Given the description of an element on the screen output the (x, y) to click on. 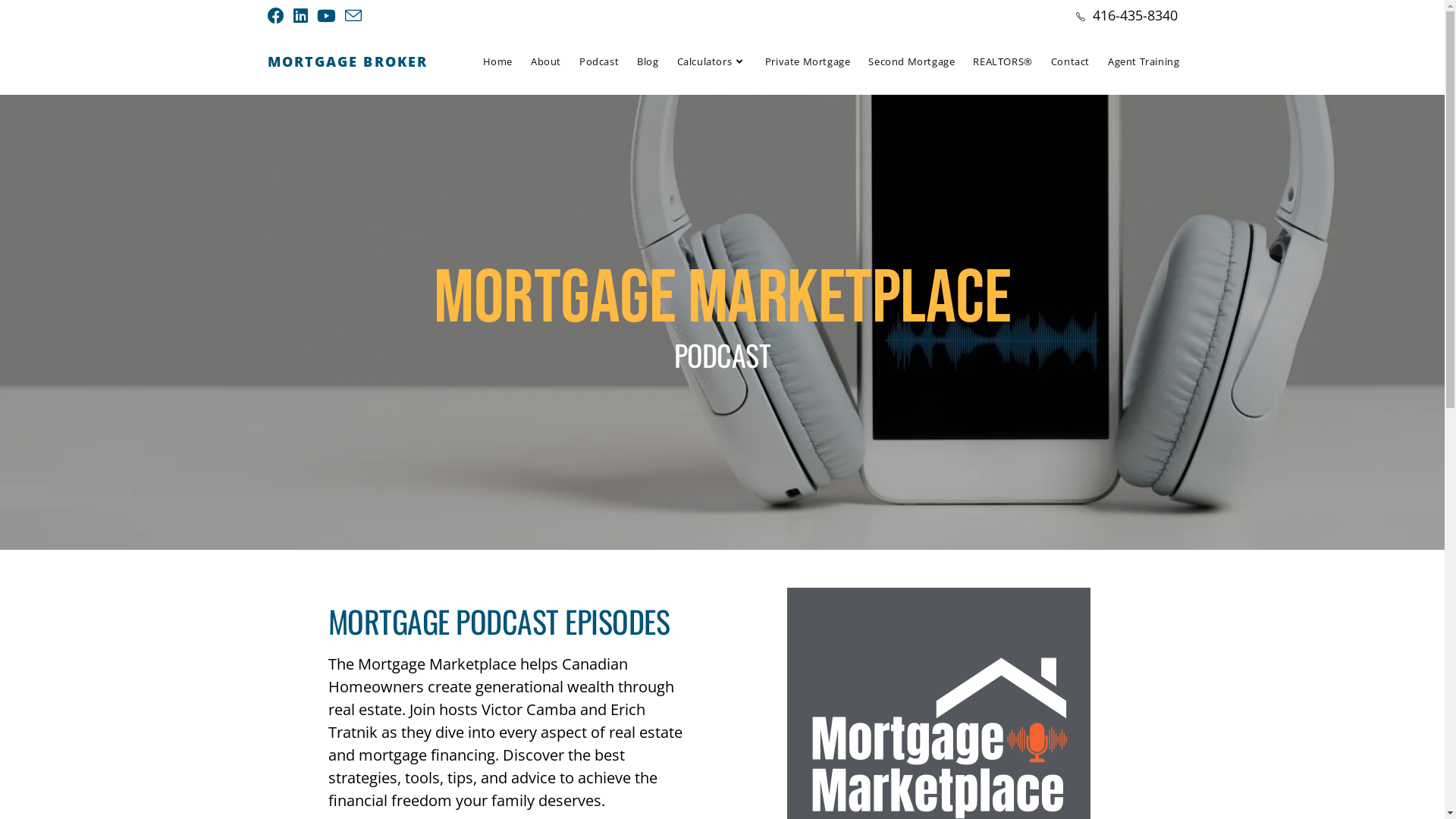
416-435-8340 Element type: text (1134, 15)
MORTGAGE BROKER Element type: text (346, 61)
Blog Element type: text (647, 61)
Agent Training Element type: text (1143, 61)
Calculators Element type: text (712, 61)
Home Element type: text (497, 61)
Second Mortgage Element type: text (911, 61)
Contact Element type: text (1069, 61)
About Element type: text (545, 61)
Private Mortgage Element type: text (807, 61)
Podcast Element type: text (598, 61)
